Given the description of an element on the screen output the (x, y) to click on. 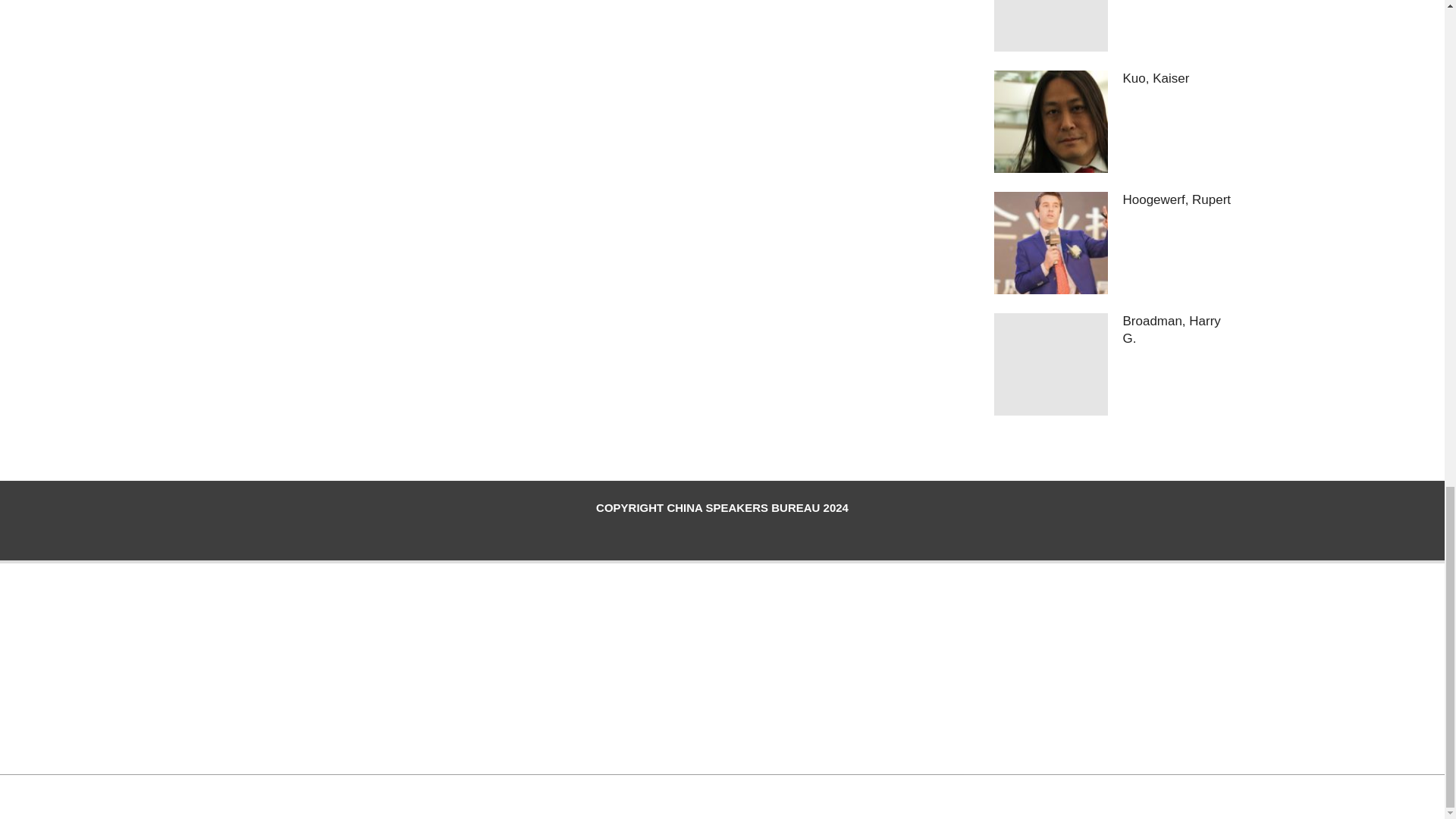
Hoot Du WordPress Theme (704, 794)
